Given the description of an element on the screen output the (x, y) to click on. 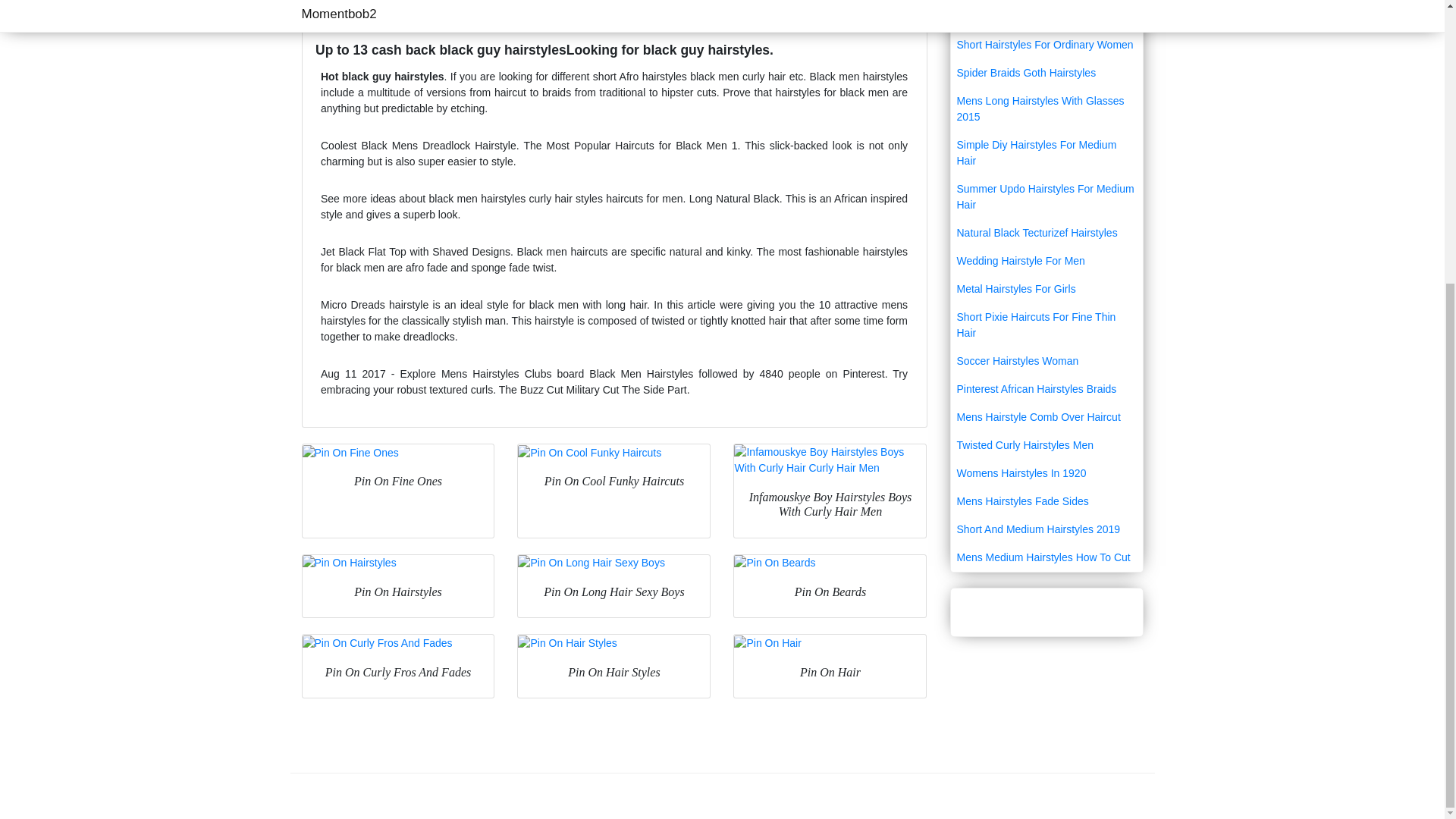
Pinterest African Hairstyles Braids (1046, 389)
Mens Long Hairstyles With Glasses 2015 (1046, 108)
Soccer Hairstyles Woman (1046, 361)
Short Hairstyles For Ordinary Women (1046, 44)
Metal Hairstyles For Girls (1046, 289)
Twist Hairstyles Black Boy (1046, 17)
Wedding Hairstyle For Men (1046, 261)
Natural Black Tecturizef Hairstyles (1046, 233)
Short Pixie Haircuts For Fine Thin Hair (1046, 325)
Spider Braids Goth Hairstyles (1046, 72)
Quick Easy Natural Black Hairstyles (1046, 1)
Summer Updo Hairstyles For Medium Hair (1046, 197)
Simple Diy Hairstyles For Medium Hair (1046, 153)
